Given the description of an element on the screen output the (x, y) to click on. 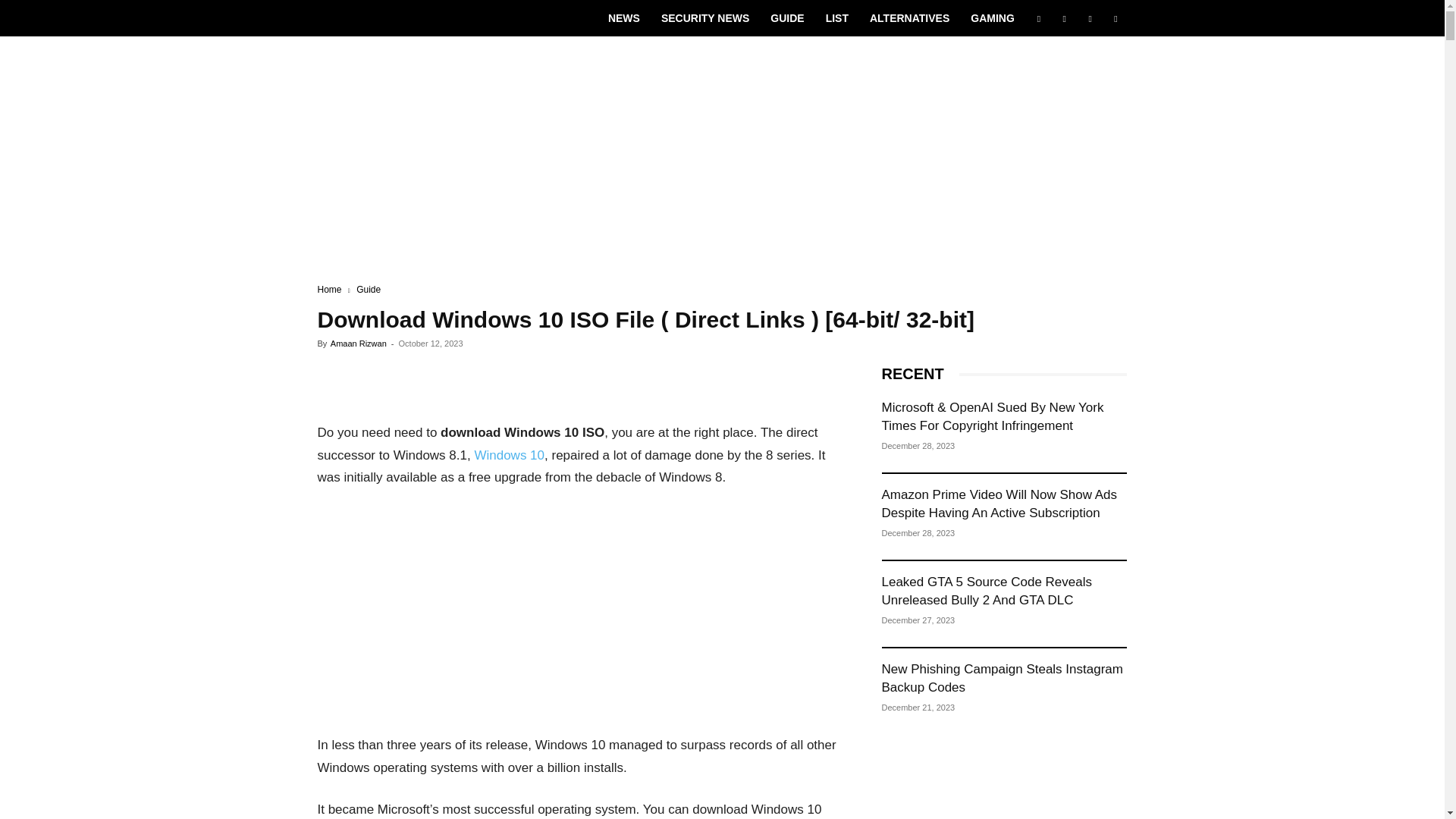
Amaan Rizwan (358, 343)
Home (328, 289)
GUIDE (786, 18)
GAMING (992, 18)
ALTERNATIVES (909, 18)
LIST (837, 18)
Windows 10 (509, 454)
NEWS (623, 18)
SECURITY NEWS (705, 18)
